Given the description of an element on the screen output the (x, y) to click on. 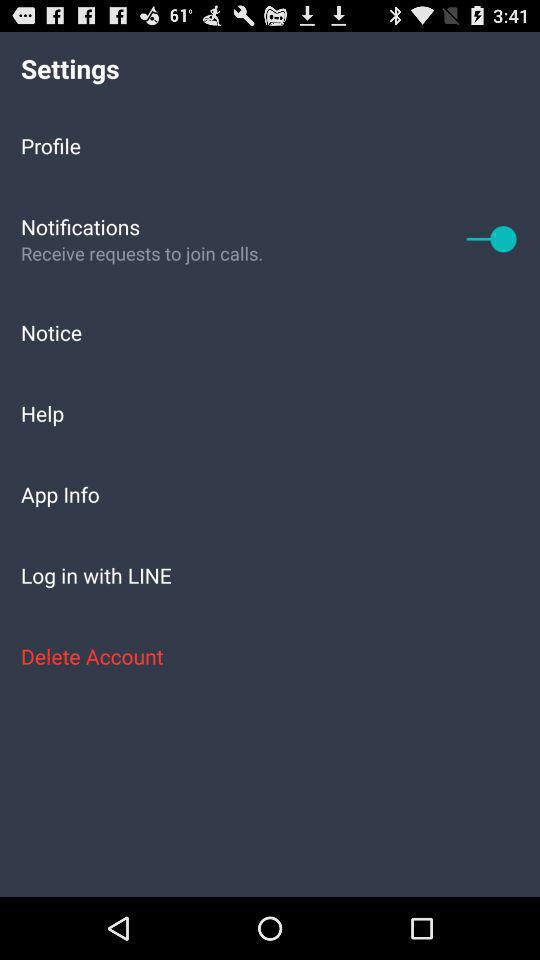
select the app info app (270, 493)
